Given the description of an element on the screen output the (x, y) to click on. 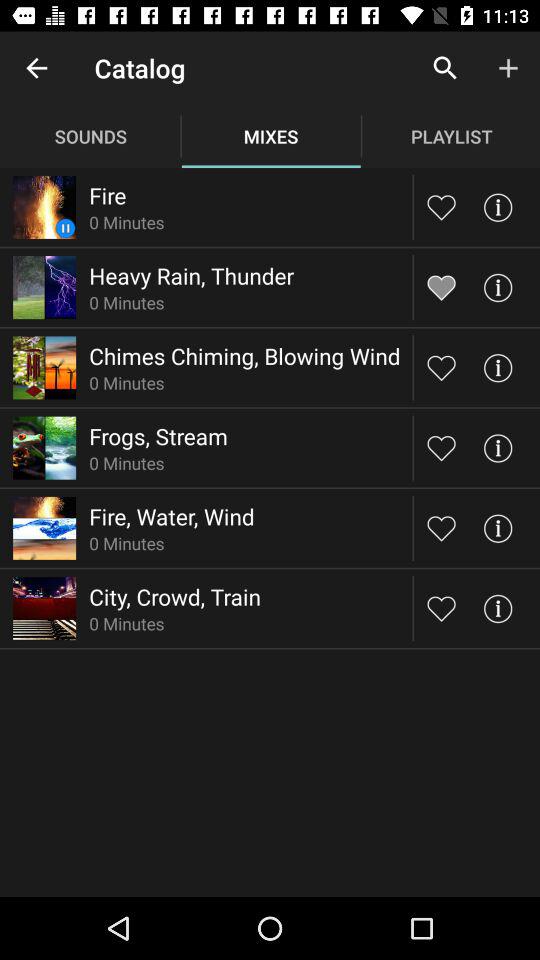
love third song down (441, 367)
